Given the description of an element on the screen output the (x, y) to click on. 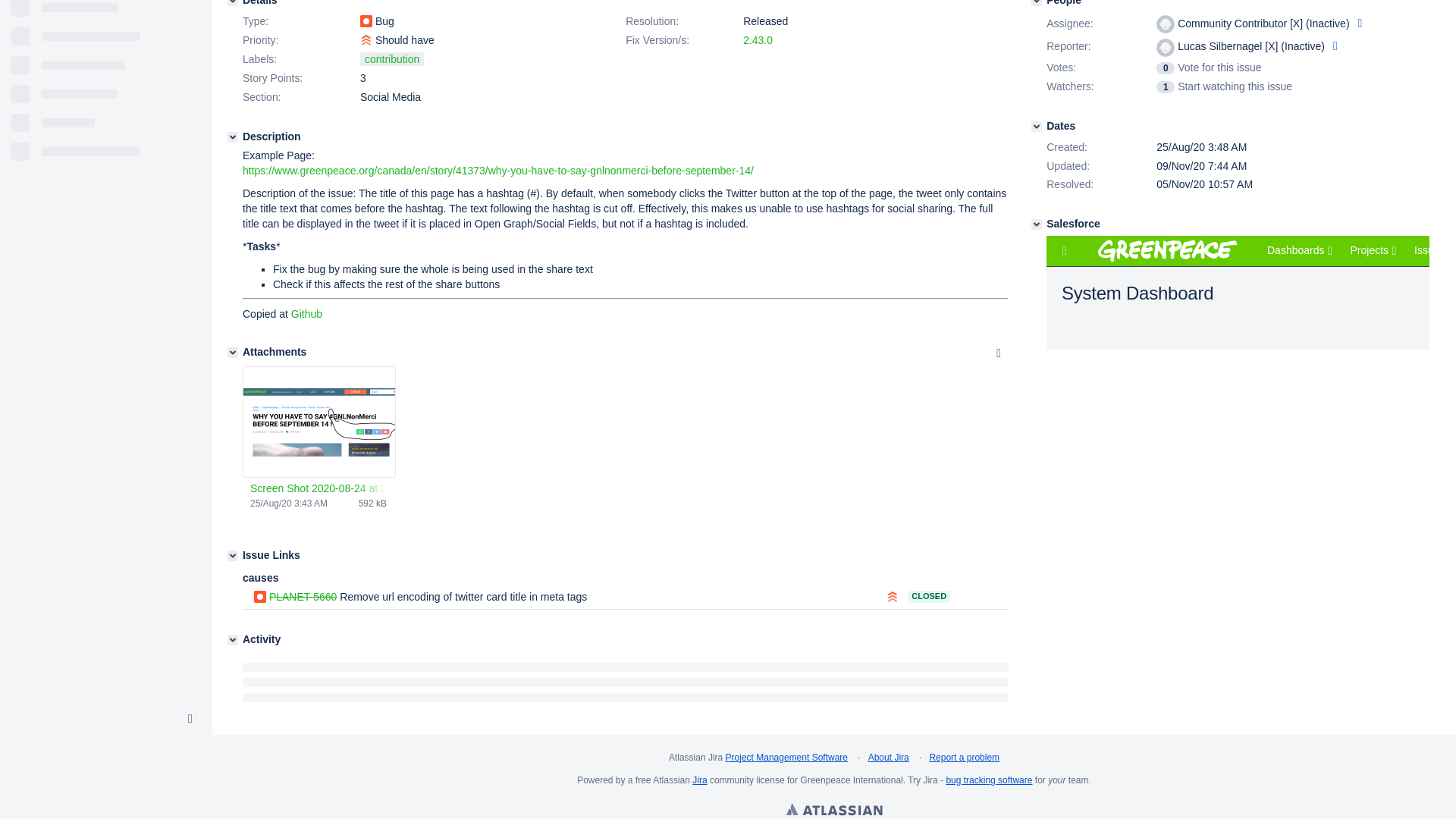
contribution (391, 59)
Options (998, 352)
Attachments (232, 352)
Priority (299, 40)
Type (299, 22)
2.43.0  (757, 39)
Resolution (682, 22)
Description (232, 136)
2.43.0 (757, 39)
Details (232, 2)
Github (306, 313)
